Given the description of an element on the screen output the (x, y) to click on. 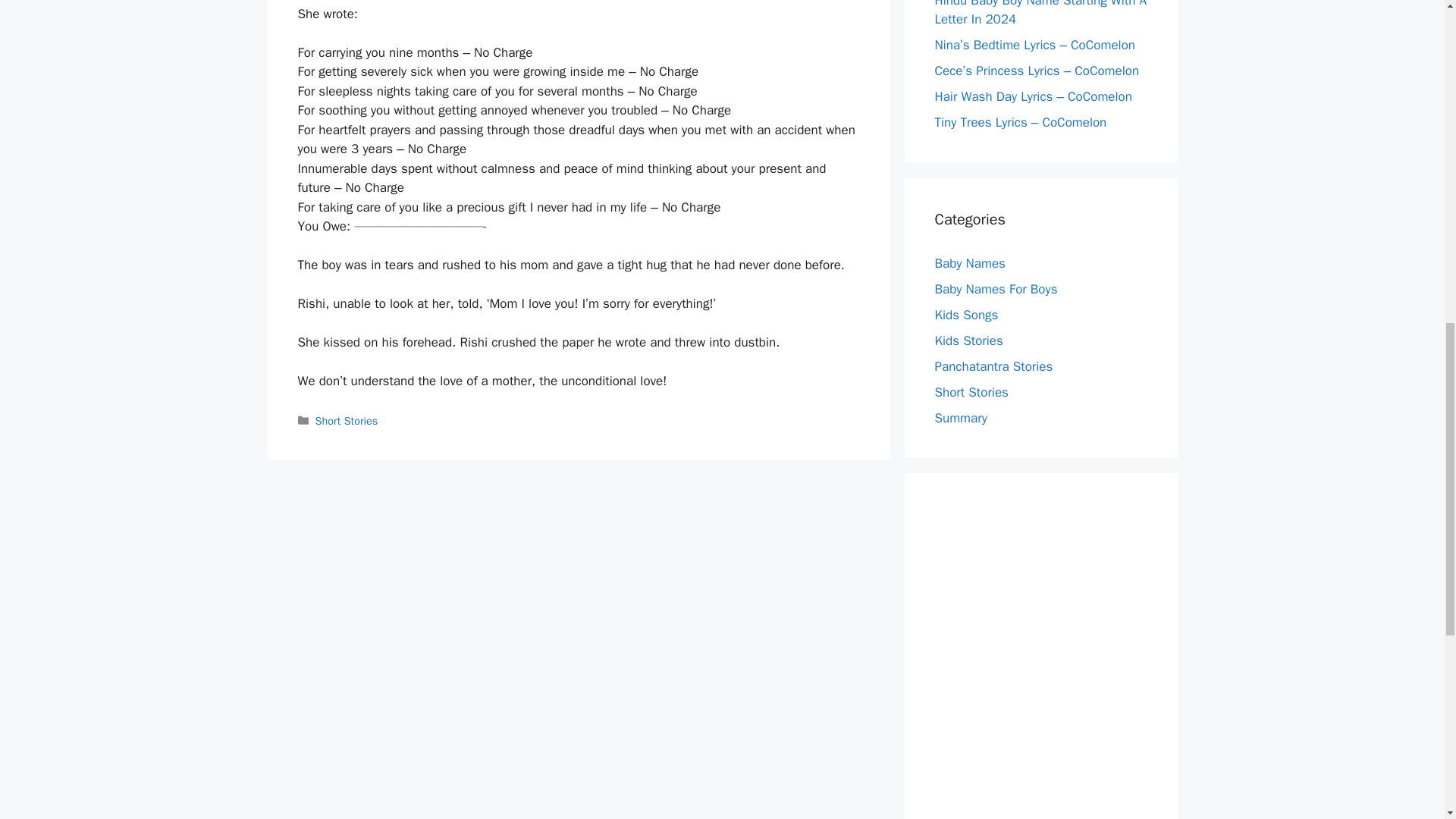
Kids Songs (965, 314)
Short Stories (970, 391)
Short Stories (346, 420)
Summary (960, 417)
Panchatantra Stories (993, 365)
Hindu Baby Boy Name Starting With A Letter In 2024 (1039, 13)
Kids Stories (968, 340)
Baby Names For Boys (995, 288)
Baby Names (969, 262)
